Given the description of an element on the screen output the (x, y) to click on. 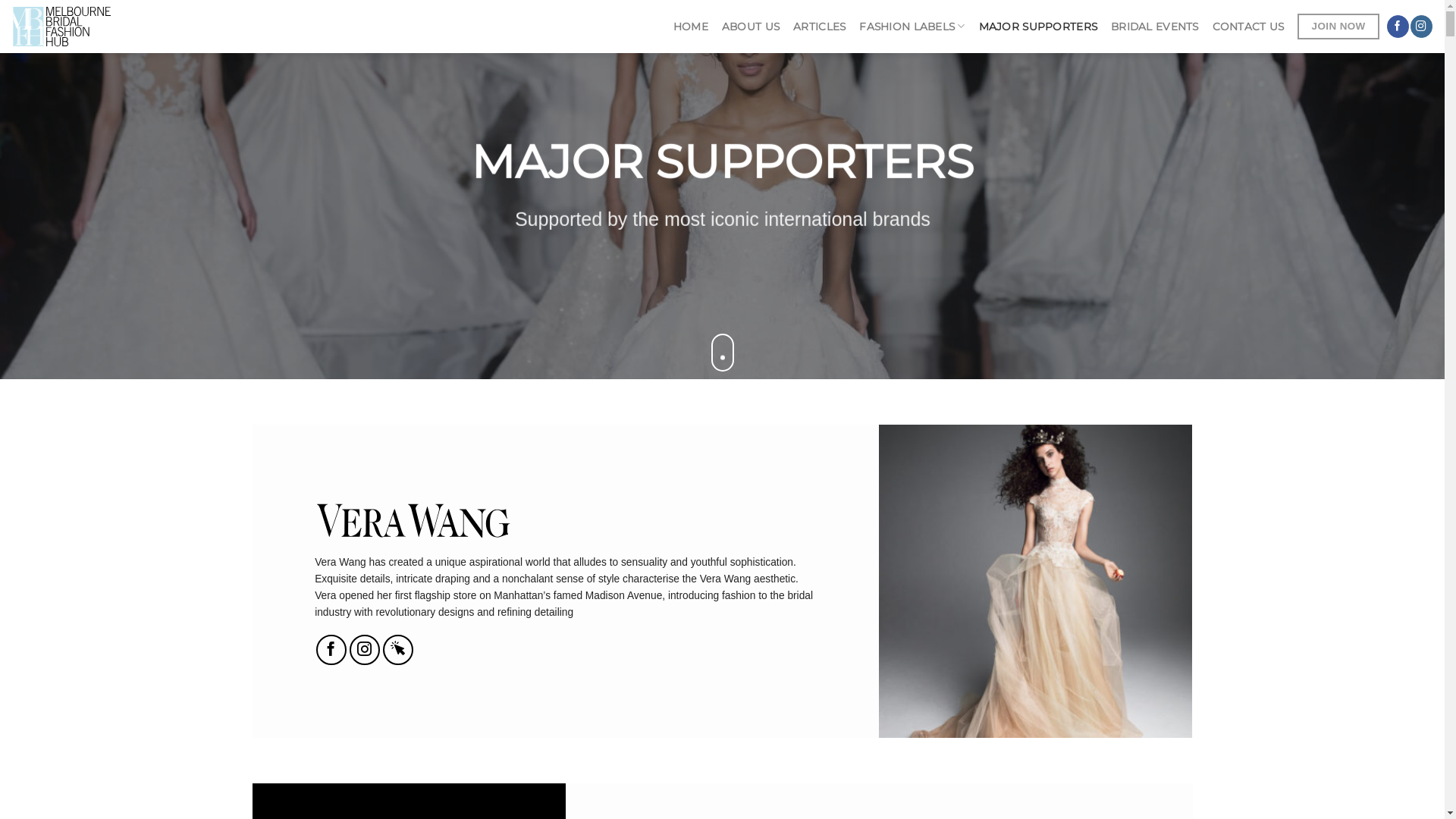
ARTICLES Element type: text (819, 26)
CONTACT US Element type: text (1248, 26)
BRIDAL EVENTS Element type: text (1154, 26)
JOIN NOW Element type: text (1337, 26)
Melbourne Bridal Fashion Hub -  Element type: hover (107, 26)
ABOUT US Element type: text (750, 26)
FASHION LABELS Element type: text (911, 26)
HOME Element type: text (690, 26)
MAJOR SUPPORTERS Element type: text (1038, 26)
